Given the description of an element on the screen output the (x, y) to click on. 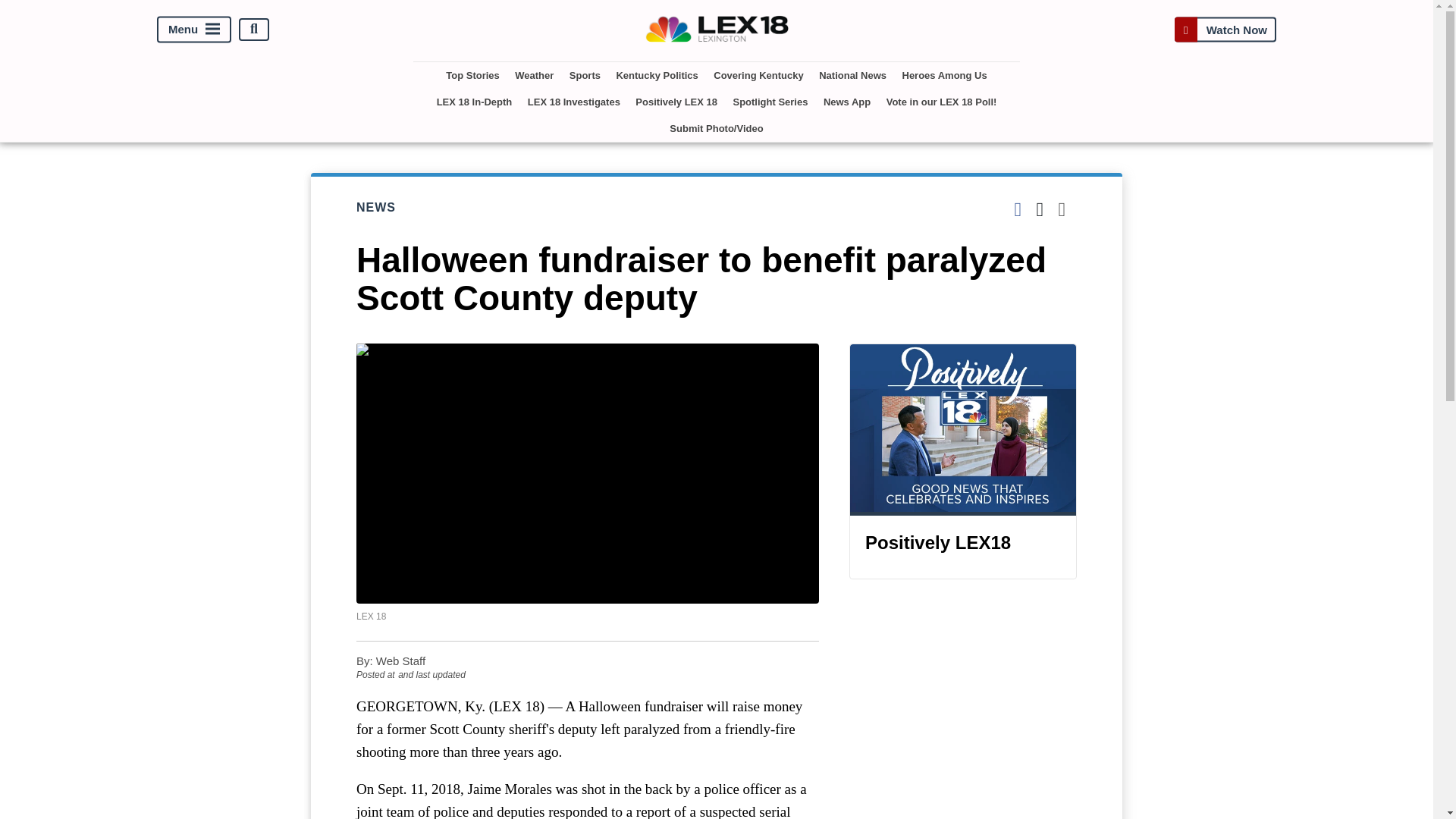
Watch Now (1224, 29)
Menu (194, 28)
